Given the description of an element on the screen output the (x, y) to click on. 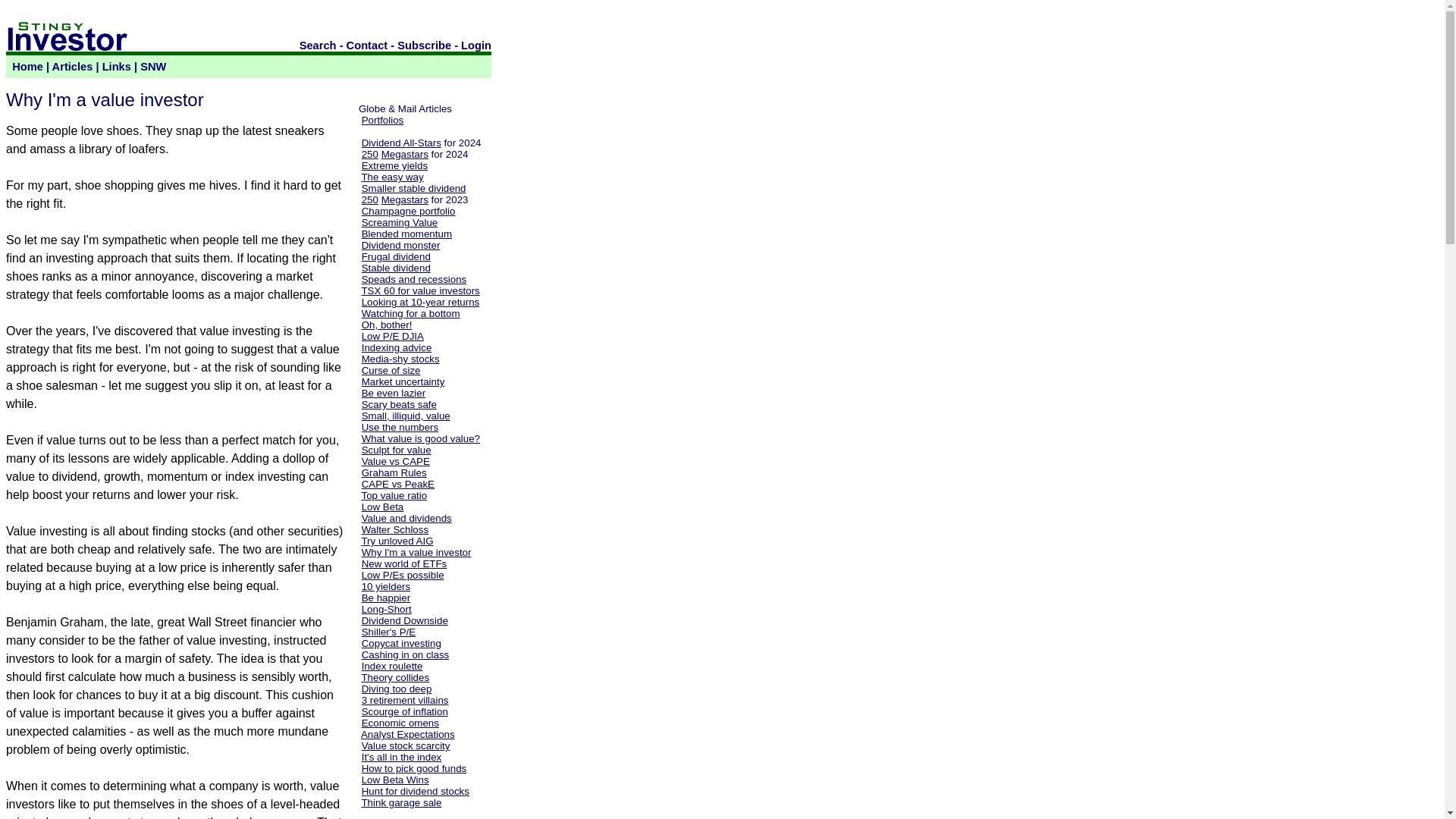
Contact (367, 45)
Media-shy stocks (400, 358)
Dividend All-Stars (401, 142)
Subscribe (424, 45)
Screaming Value (399, 222)
Speads and recessions (414, 279)
250 (369, 153)
Blended momentum (406, 233)
Sculpt for value (395, 449)
Scary beats safe (398, 404)
